Given the description of an element on the screen output the (x, y) to click on. 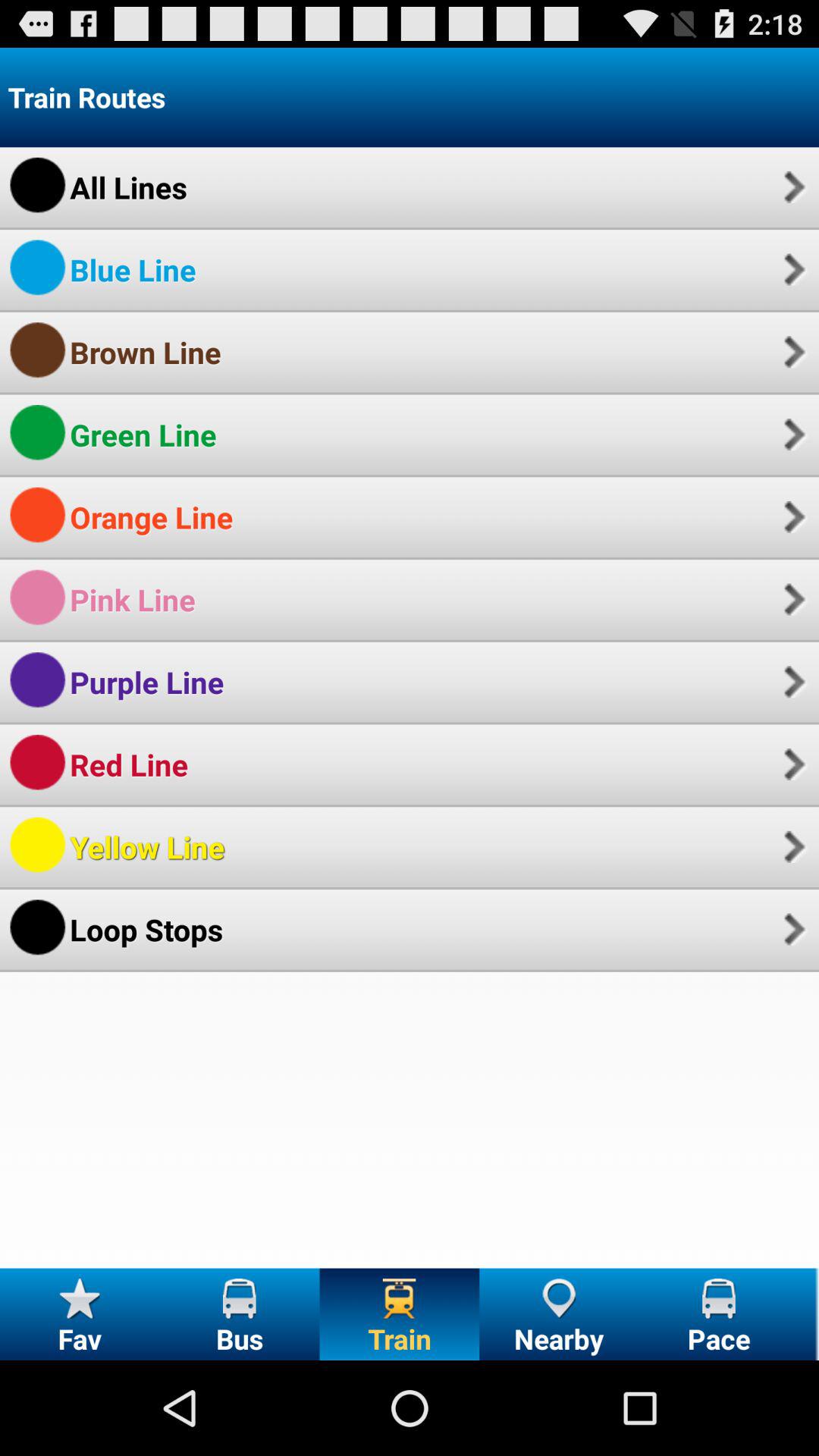
open item next to the purple line app (792, 681)
